Given the description of an element on the screen output the (x, y) to click on. 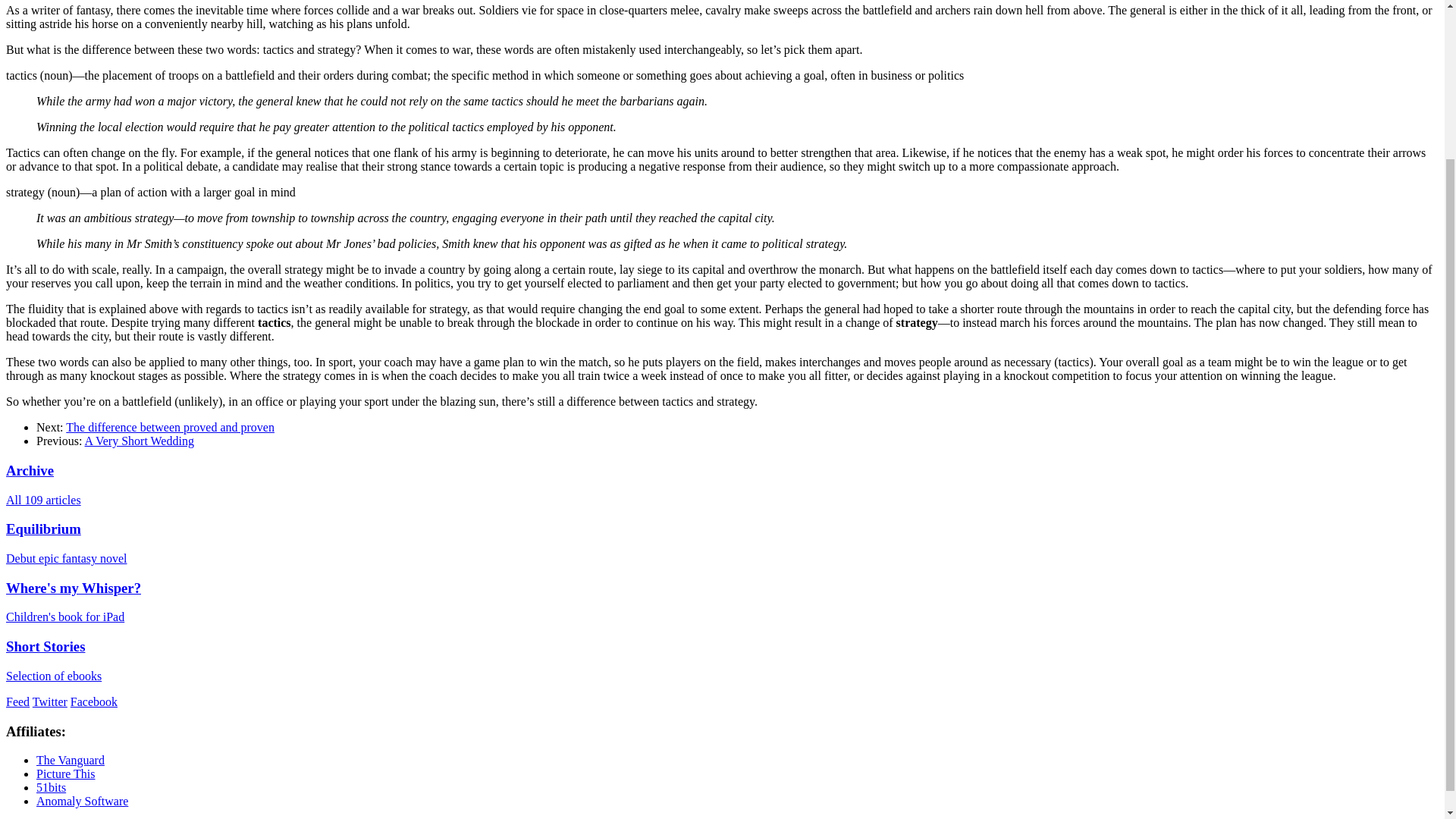
The difference between proved and proven (170, 427)
Anomaly Software (82, 800)
51bits (50, 787)
Picture This (65, 773)
The Vanguard (70, 759)
Twitter (49, 701)
A Very Short Wedding (138, 440)
Feed (17, 701)
Facebook (93, 701)
